Given the description of an element on the screen output the (x, y) to click on. 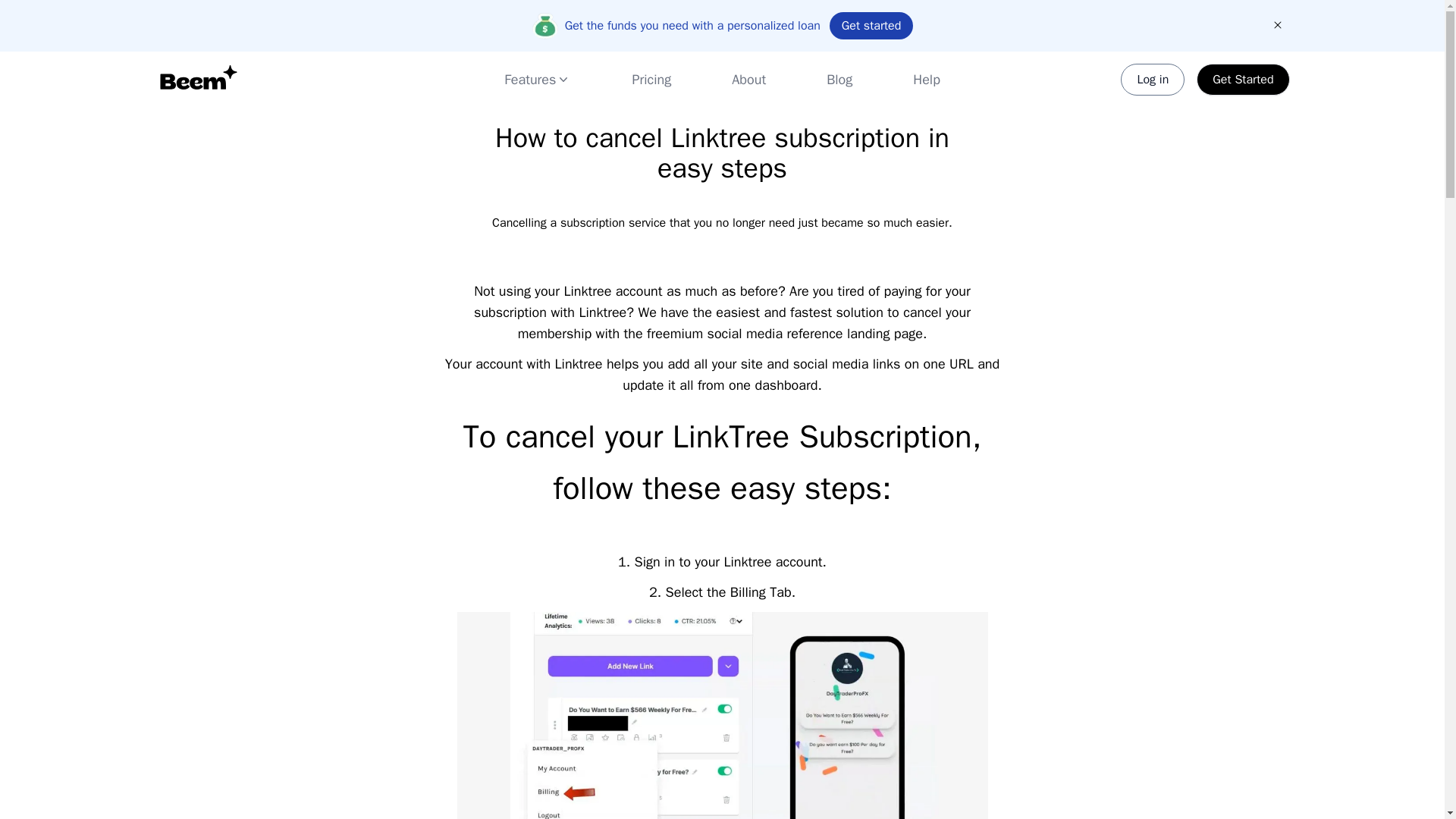
Pricing (651, 78)
Blog (840, 78)
Get started (871, 25)
Beem Logo (197, 79)
Get Started (1242, 79)
About (748, 78)
Skip to content (54, 17)
Log in (1153, 79)
close announcement (1277, 24)
Help (926, 78)
Features (536, 79)
